Given the description of an element on the screen output the (x, y) to click on. 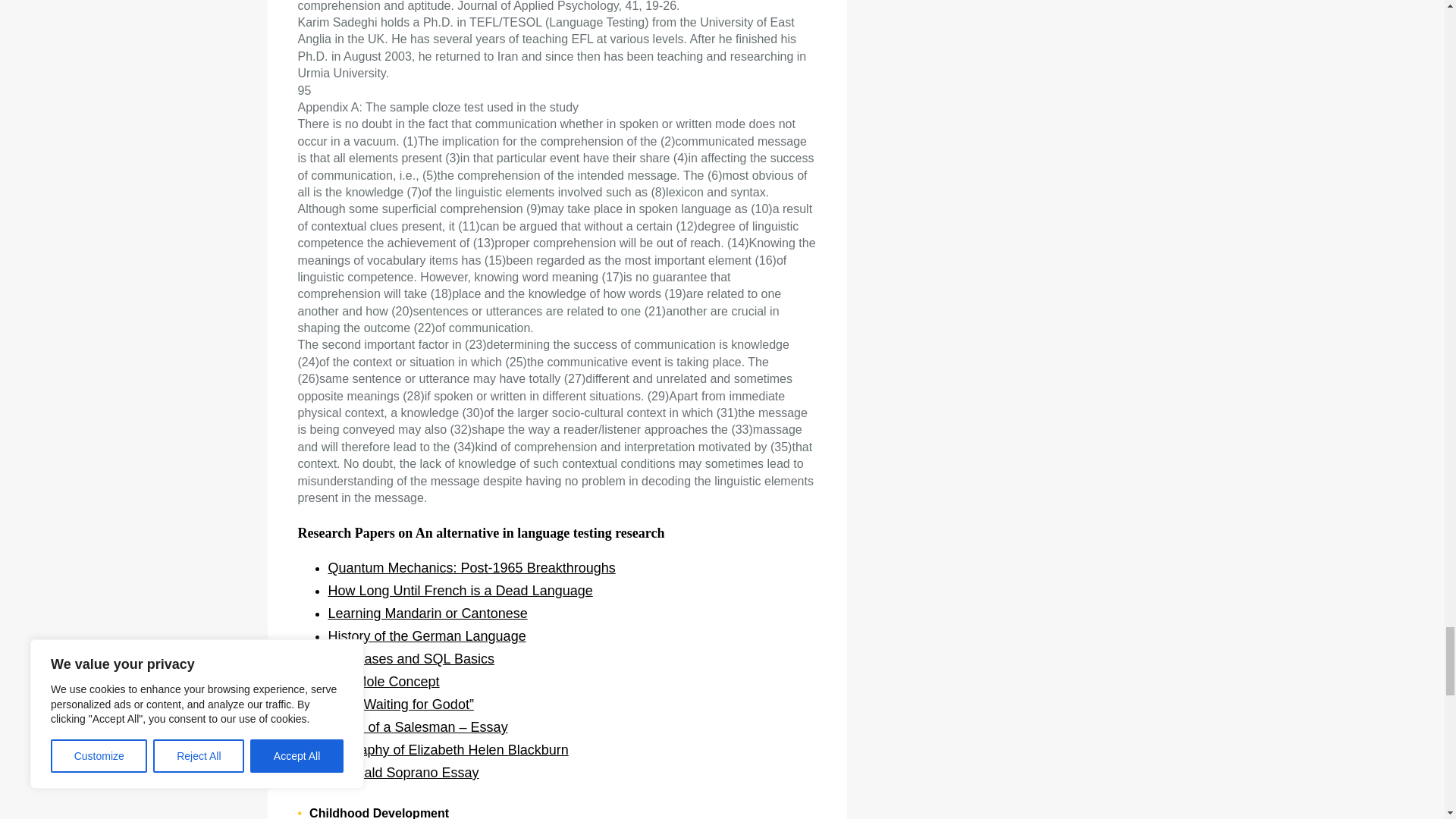
Quantum Mechanics: Post-1965 Breakthroughs (470, 567)
Biography of Elizabeth Helen Blackburn (447, 749)
History of the German Language (426, 635)
The Bald Soprano Essay (403, 772)
Databases and SQL Basics (410, 658)
Childhood Development (378, 812)
How Long Until French is a Dead Language (459, 590)
The Mole Concept (383, 681)
Learning Mandarin or Cantonese (427, 613)
